Given the description of an element on the screen output the (x, y) to click on. 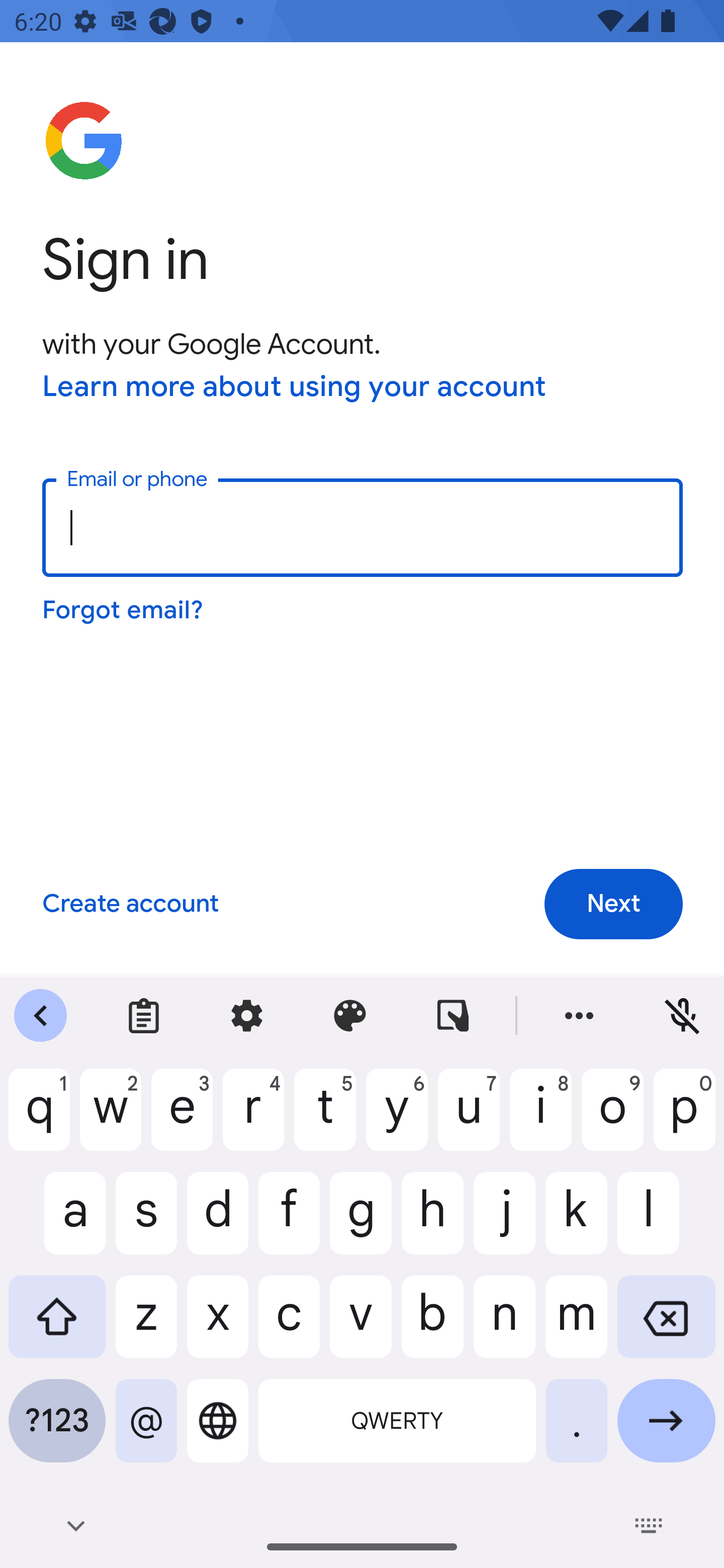
Learn more about using your account (294, 388)
Forgot email? (123, 609)
Create account (129, 904)
Next (613, 904)
